Given the description of an element on the screen output the (x, y) to click on. 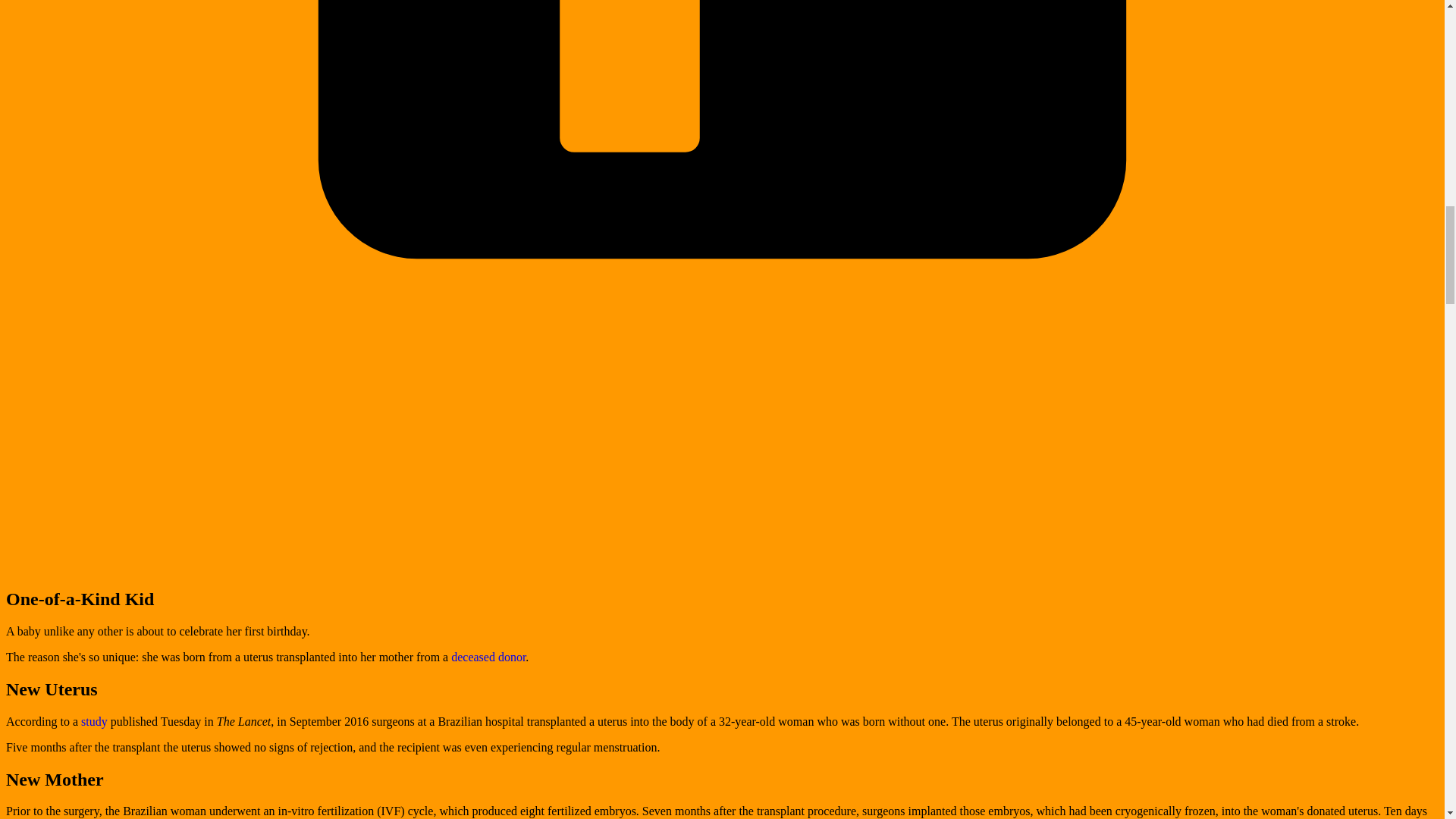
study (94, 721)
deceased donor (488, 656)
